Given the description of an element on the screen output the (x, y) to click on. 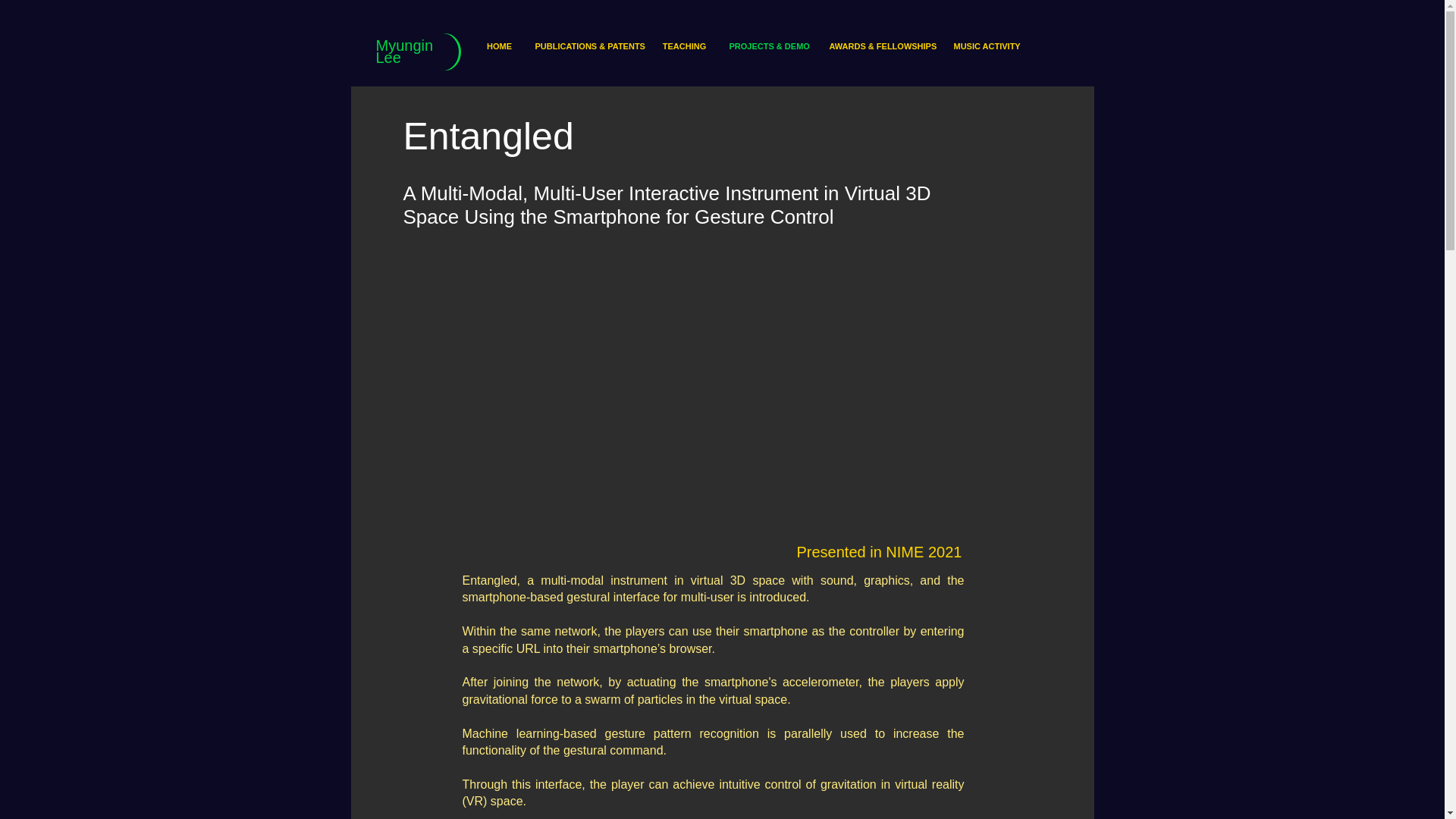
MUSIC ACTIVITY (985, 46)
TEACHING (683, 46)
Myungin Lee (404, 51)
HOME (498, 46)
